Given the description of an element on the screen output the (x, y) to click on. 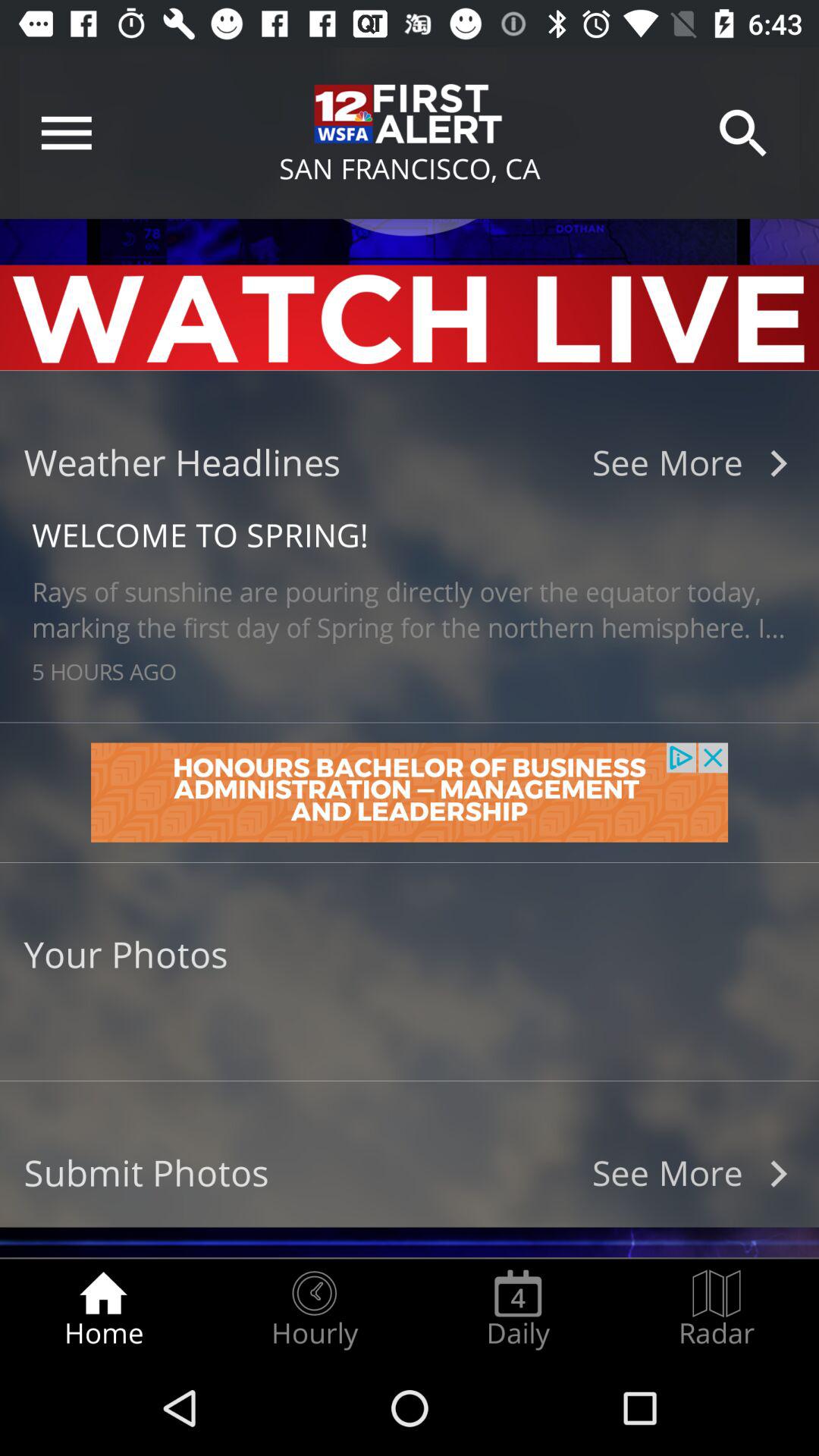
scroll until the home item (103, 1309)
